Given the description of an element on the screen output the (x, y) to click on. 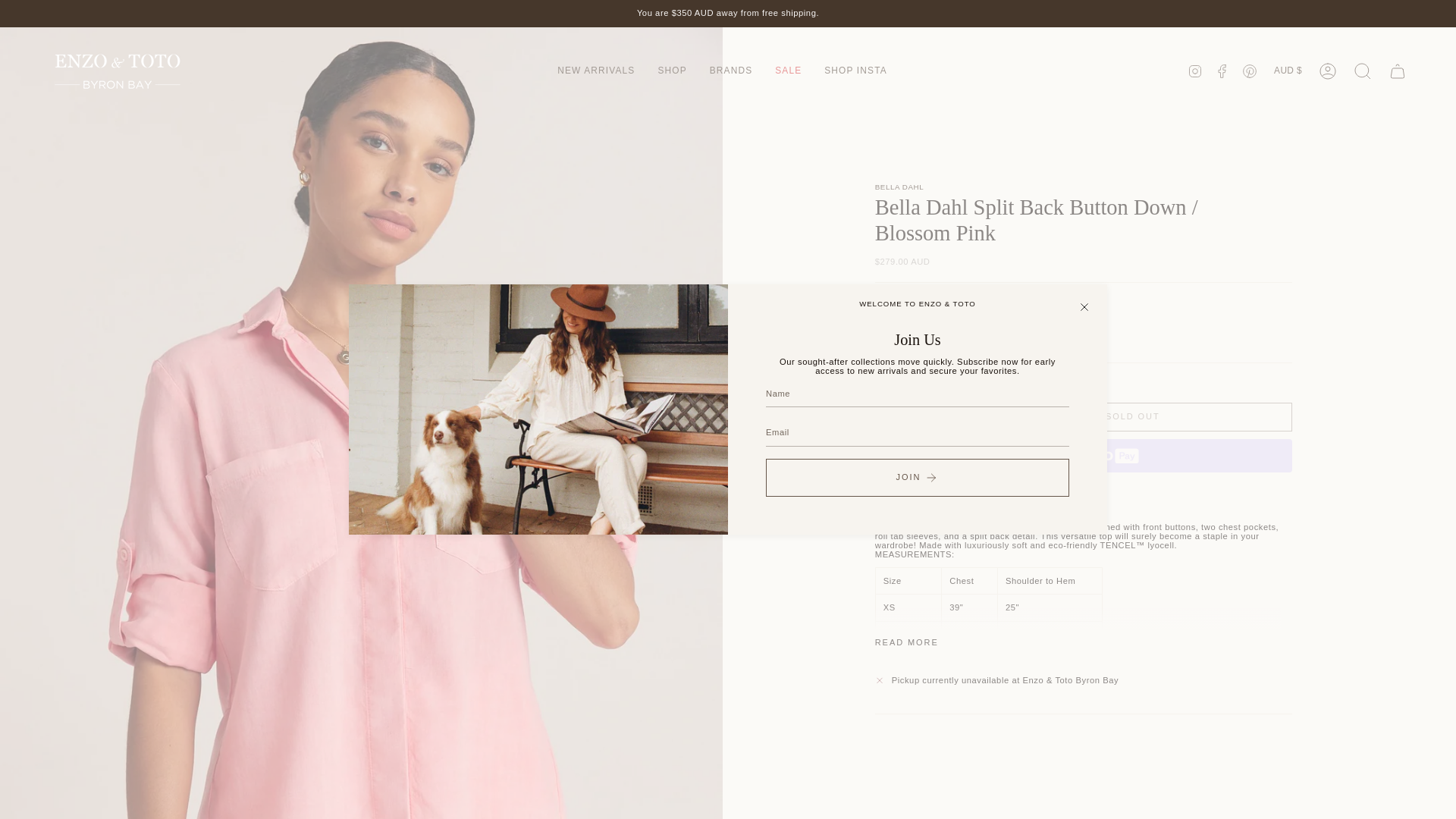
Cart (1397, 70)
My Account (1327, 70)
Search (1362, 70)
Close (1084, 306)
